Given the description of an element on the screen output the (x, y) to click on. 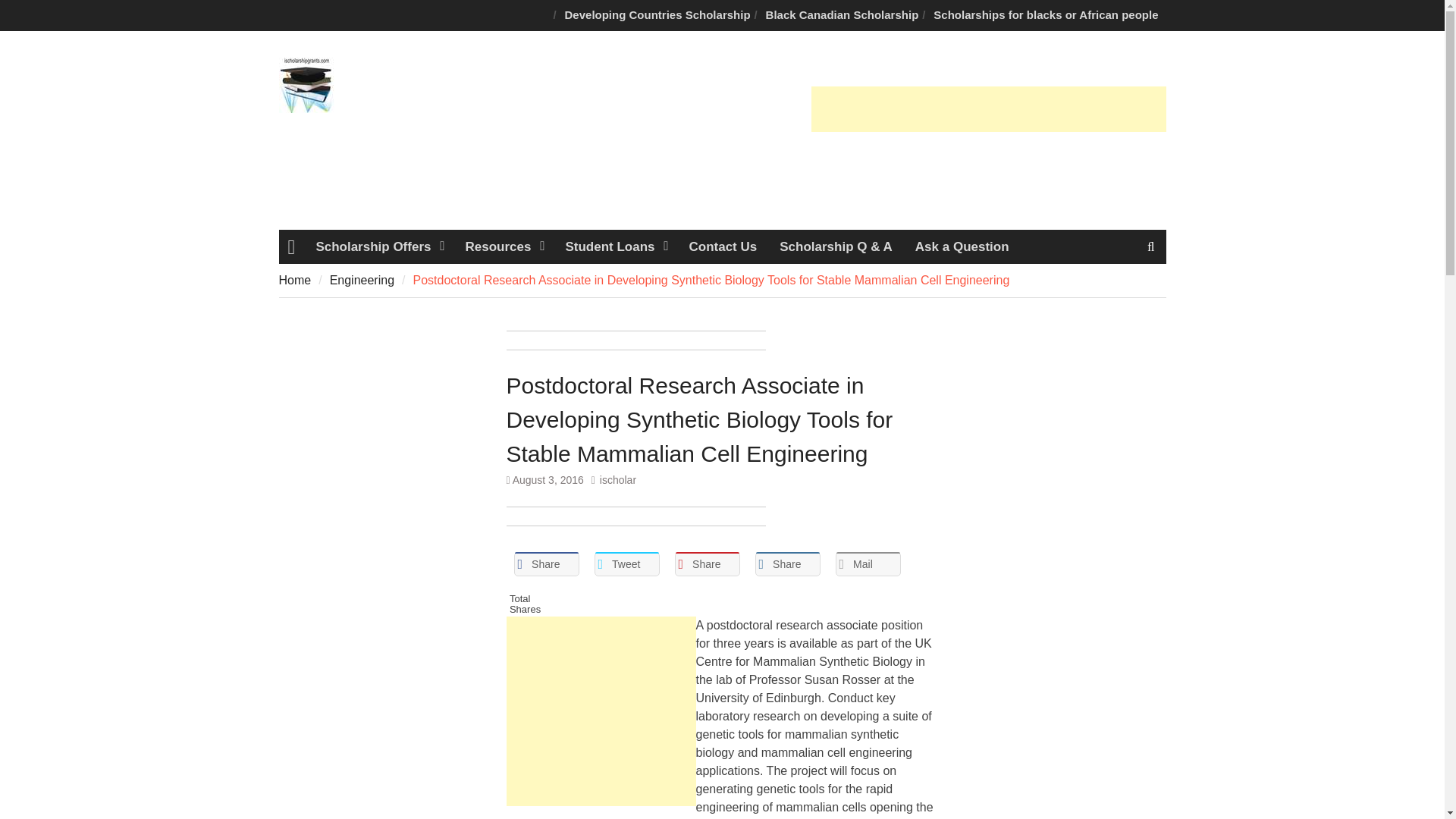
Scholarships for blacks or African people (1046, 15)
Student Loans (615, 246)
Share on Pinterest (707, 564)
Share on Facebook (546, 564)
Developing Countries Scholarship (657, 15)
Share it on Email (868, 564)
Resources (502, 246)
Share on LinkedIn (788, 564)
Scholarship Offers (378, 246)
Share on Twitter (626, 564)
